Given the description of an element on the screen output the (x, y) to click on. 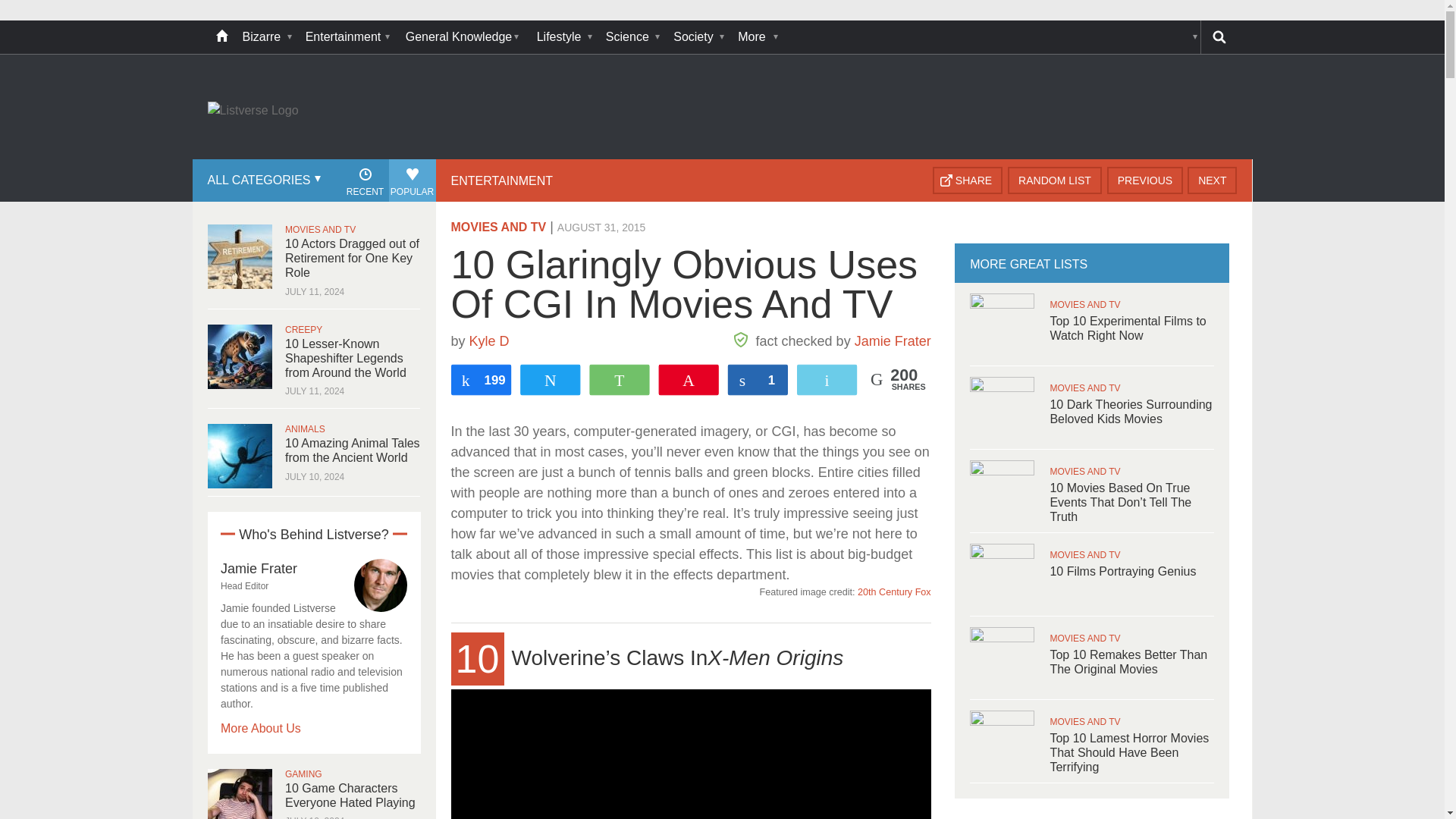
Bizarre (266, 37)
Science (631, 37)
All Categories (262, 179)
Share (968, 180)
Go to Home (253, 110)
Go Home (221, 37)
Society (697, 37)
General Knowledge (462, 37)
Popular (411, 179)
More (756, 37)
Lifestyle (563, 37)
Recent (364, 179)
Entertainment (347, 37)
